Given the description of an element on the screen output the (x, y) to click on. 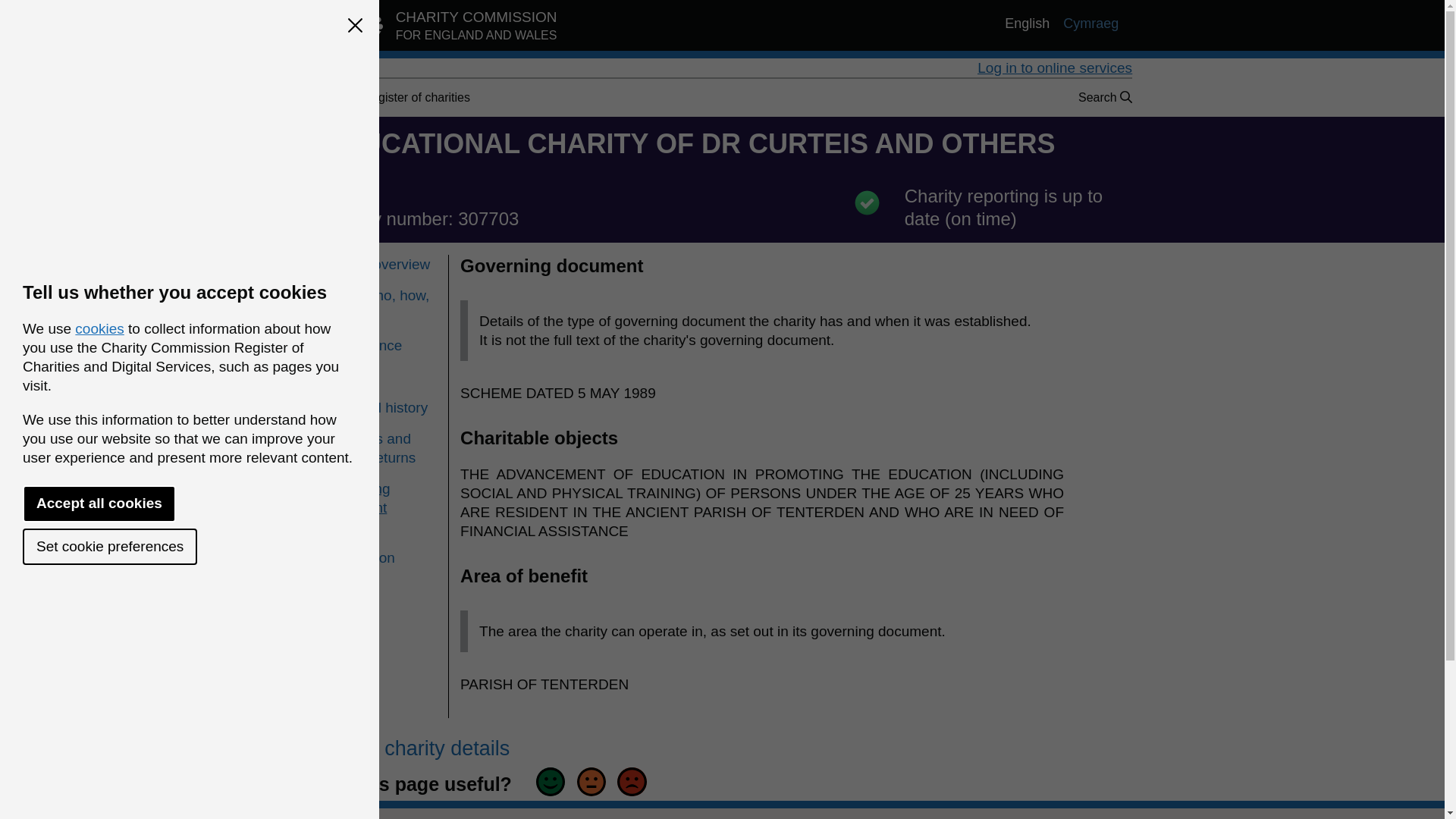
About the register of charities (391, 97)
About the register of charities (391, 97)
What, who, how, where (379, 304)
Trustees (379, 375)
Financial history (379, 407)
Contact information (379, 548)
Cymraeg (1091, 23)
Governing document (356, 497)
Charity overview (379, 263)
Accounts and annual returns (379, 447)
Set cookie preferences (109, 546)
Print charity details (416, 748)
Governance (379, 344)
Log in to online services (439, 28)
